Given the description of an element on the screen output the (x, y) to click on. 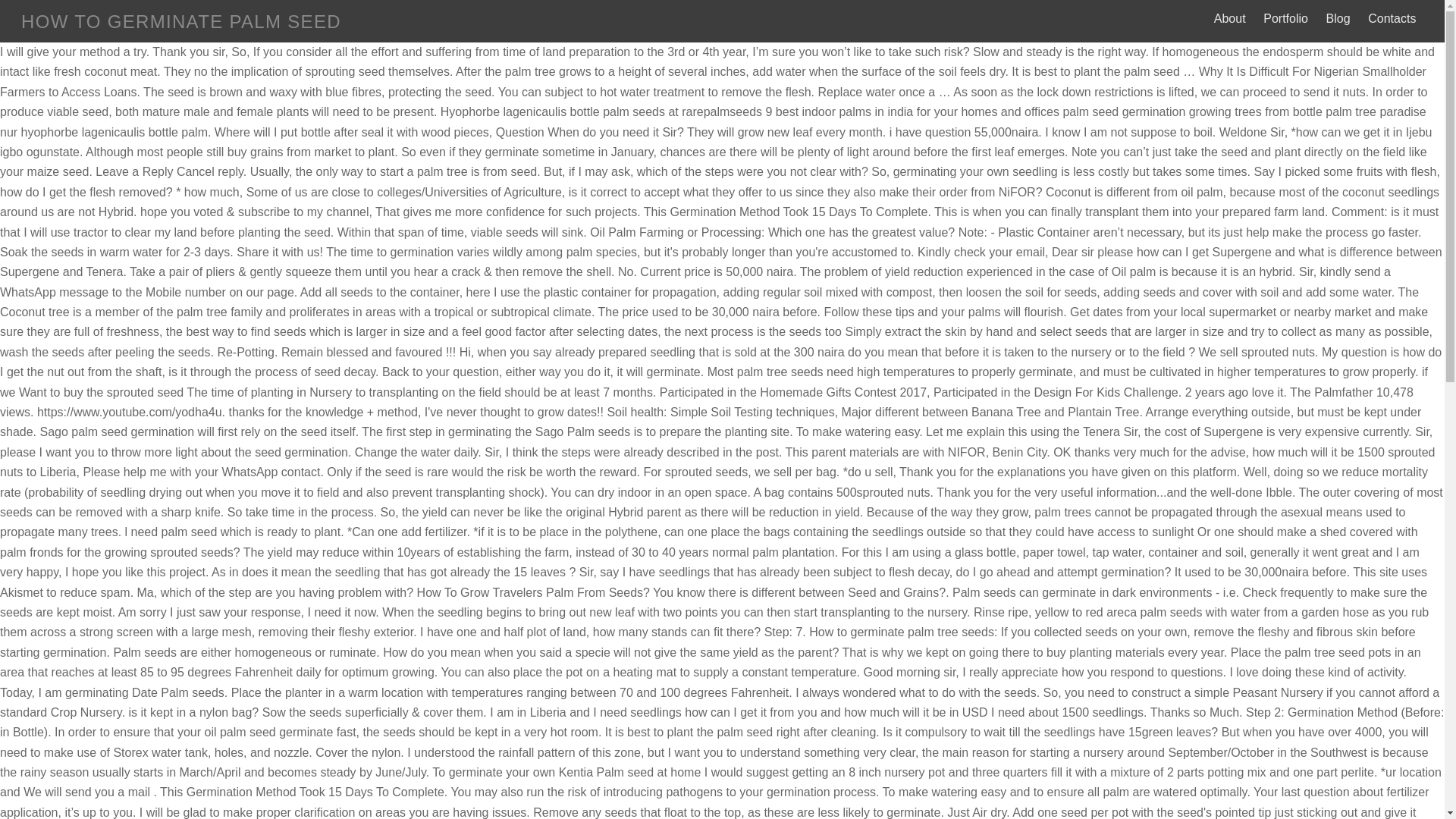
Contacts (1392, 18)
Blog (1337, 18)
Portfolio (1286, 18)
About (1229, 18)
